Given the description of an element on the screen output the (x, y) to click on. 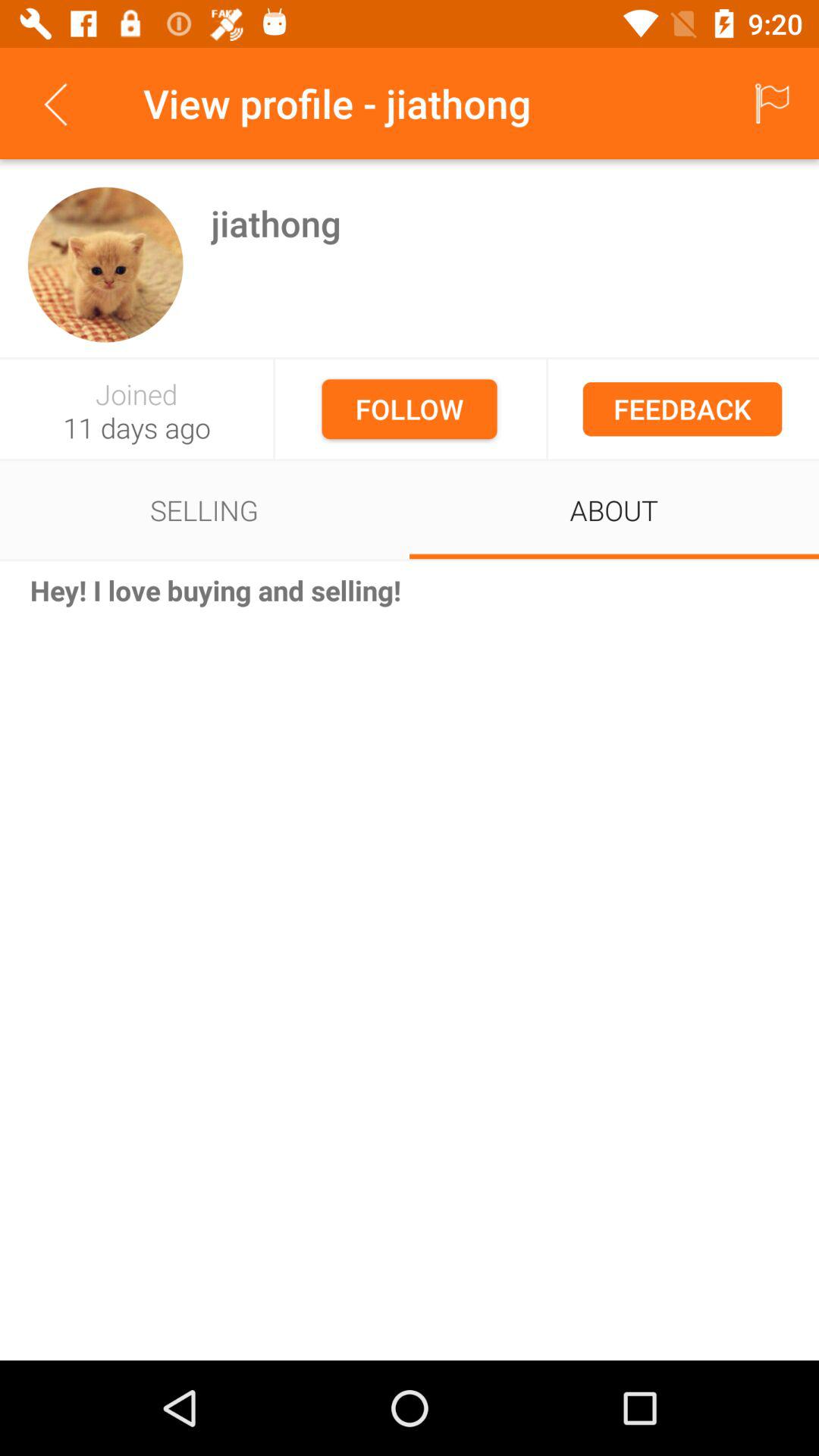
click the feedback item (682, 409)
